Given the description of an element on the screen output the (x, y) to click on. 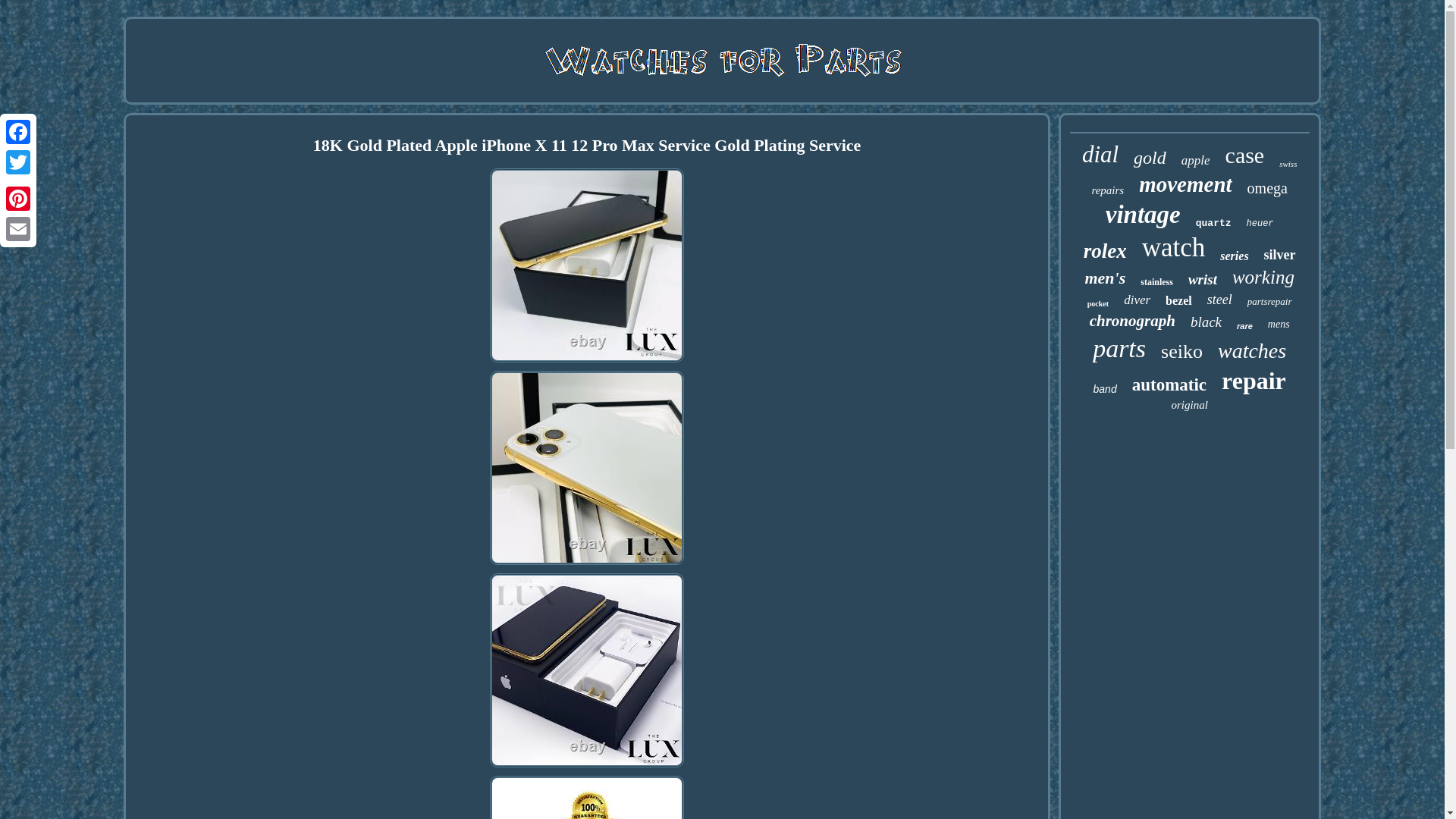
case (1245, 155)
series (1233, 255)
men's (1104, 278)
Twitter (17, 162)
repairs (1107, 190)
wrist (1202, 279)
dial (1099, 154)
vintage (1142, 214)
stainless (1156, 282)
swiss (1288, 163)
